Given the description of an element on the screen output the (x, y) to click on. 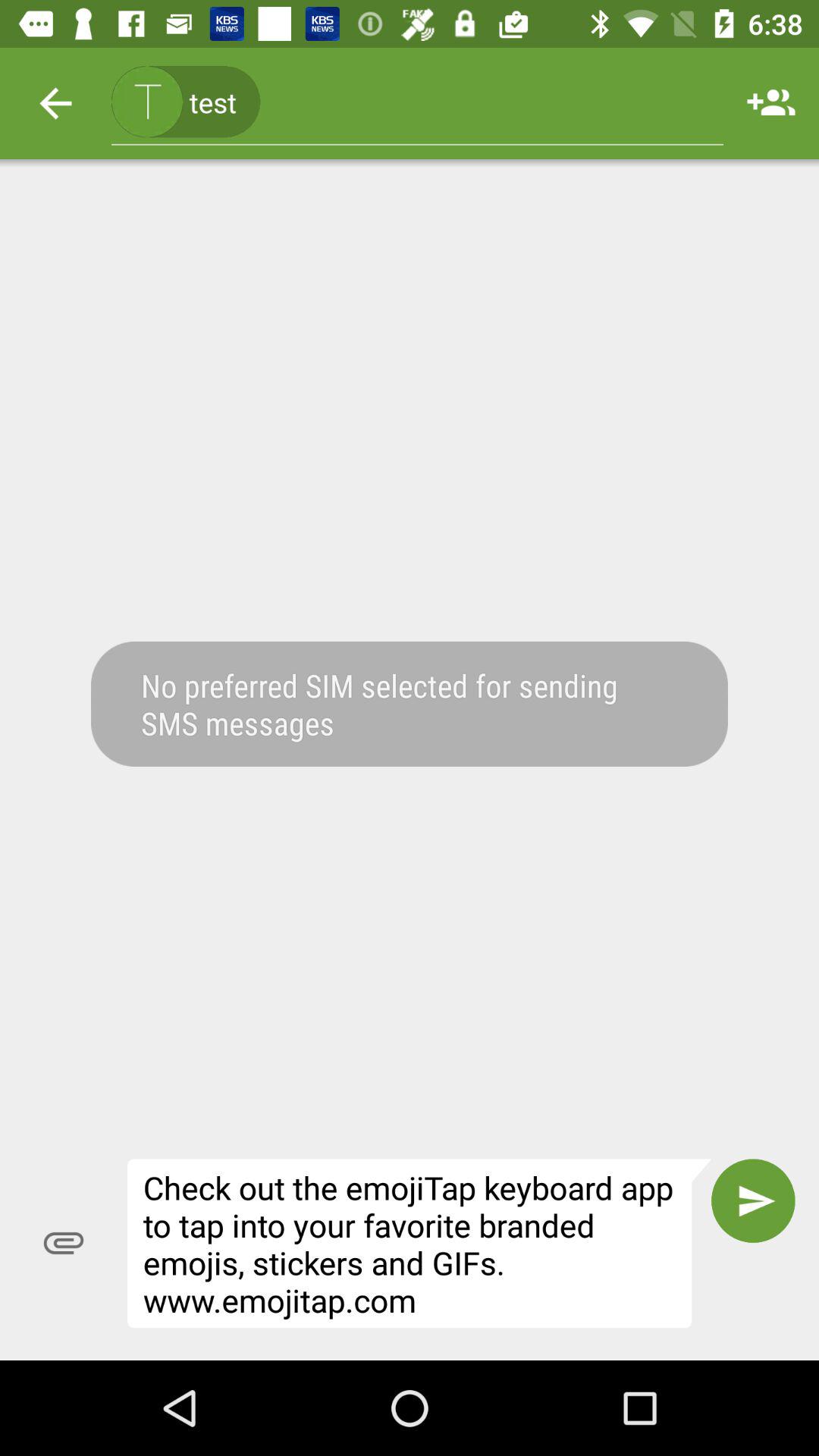
click the item next to (415) 123-4567,  icon (771, 103)
